Given the description of an element on the screen output the (x, y) to click on. 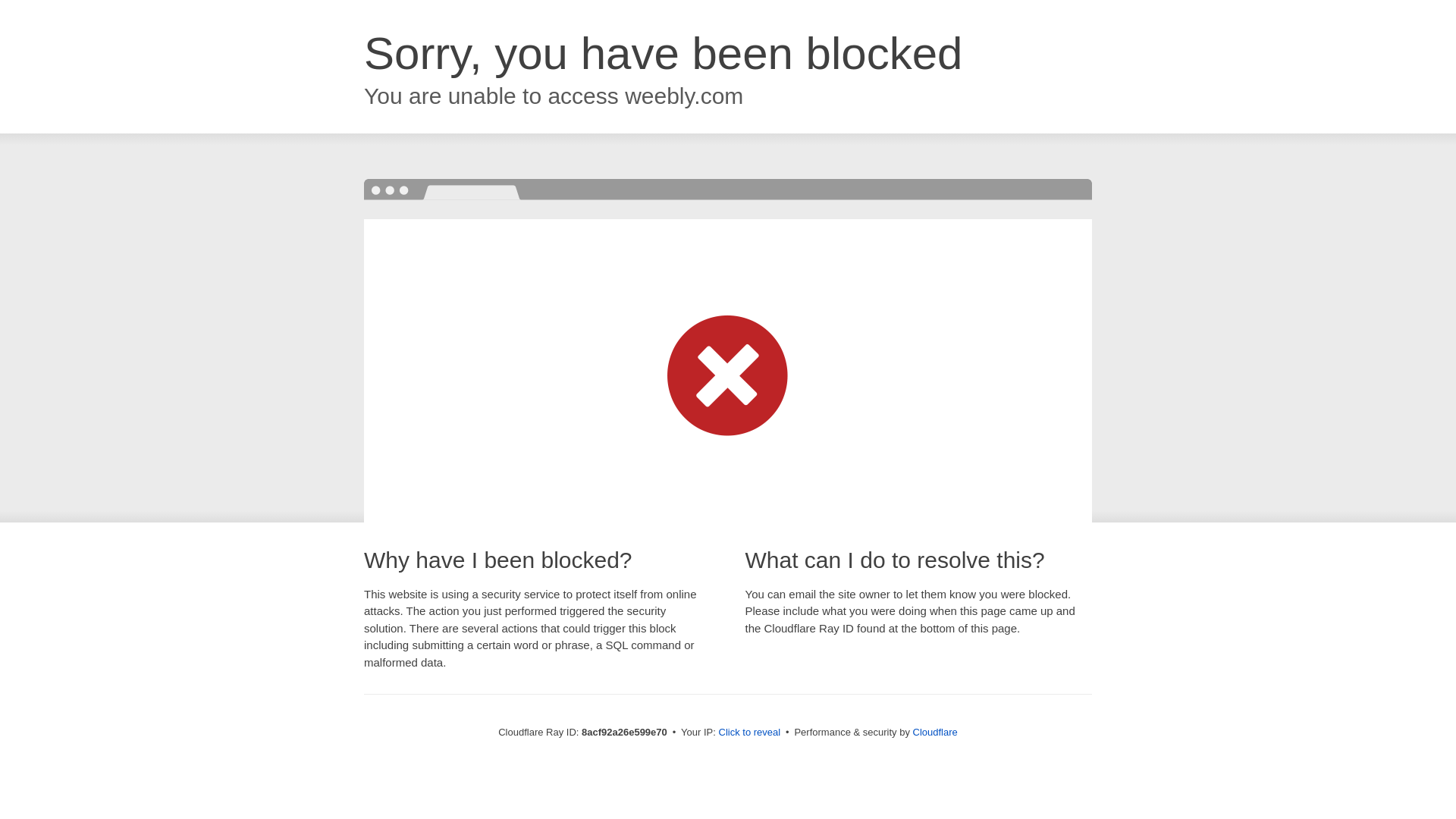
Cloudflare (935, 731)
Click to reveal (749, 732)
